Given the description of an element on the screen output the (x, y) to click on. 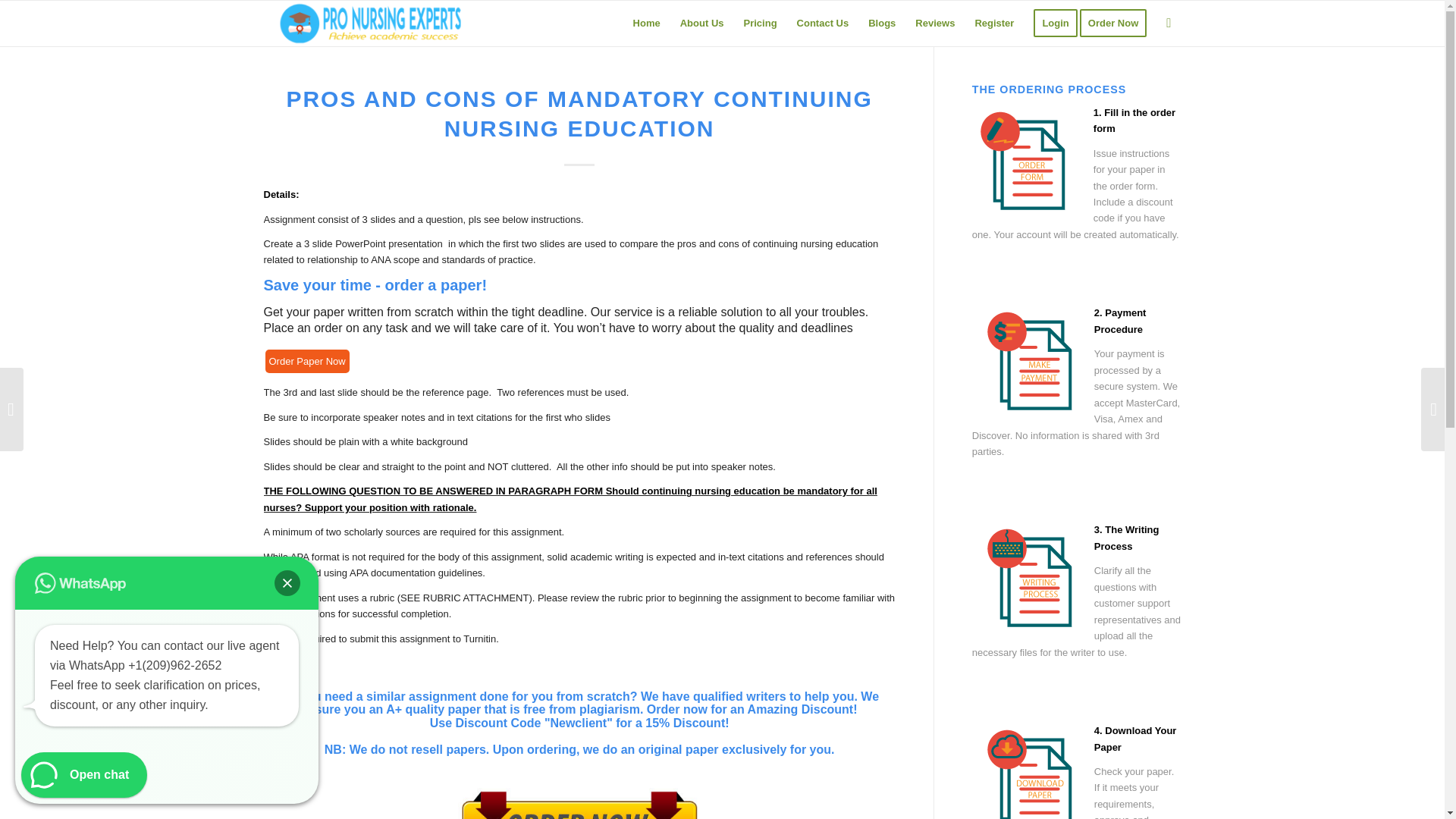
About Us (701, 22)
Blogs (882, 22)
Login (1054, 22)
Register (993, 22)
Order Paper Now (306, 361)
Pricing (760, 22)
PROS AND CONS OF MANDATORY CONTINUING NURSING EDUCATION (578, 113)
Home (646, 22)
Contact Us (823, 22)
Close (287, 583)
Order Now (1118, 22)
Reviews (934, 22)
